Given the description of an element on the screen output the (x, y) to click on. 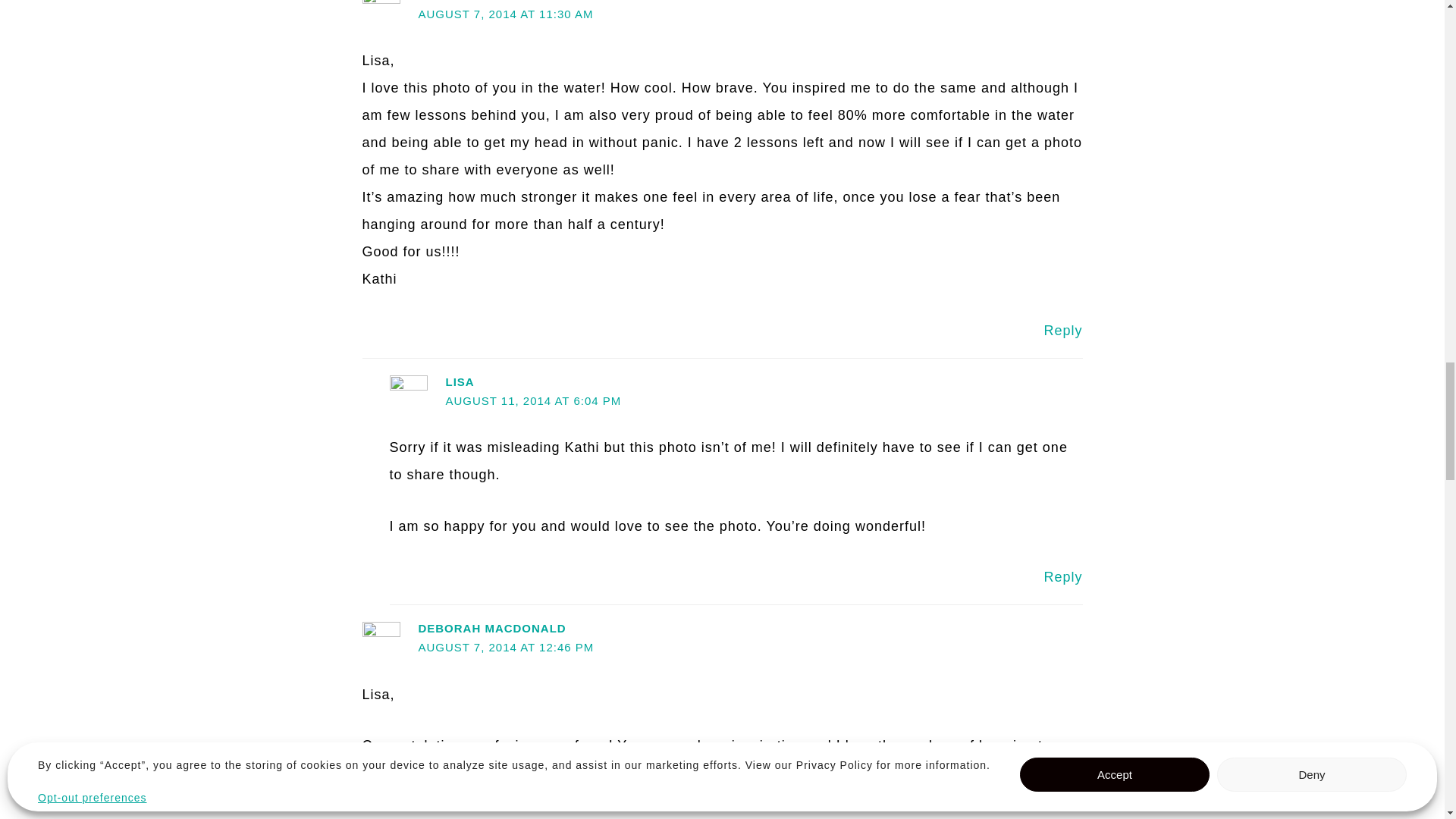
AUGUST 11, 2014 AT 6:04 PM (533, 400)
DEBORAH MACDONALD (491, 627)
Reply (1062, 330)
AUGUST 7, 2014 AT 12:46 PM (505, 646)
AUGUST 7, 2014 AT 11:30 AM (504, 13)
KATHI CASEY (459, 0)
Reply (1062, 576)
